Given the description of an element on the screen output the (x, y) to click on. 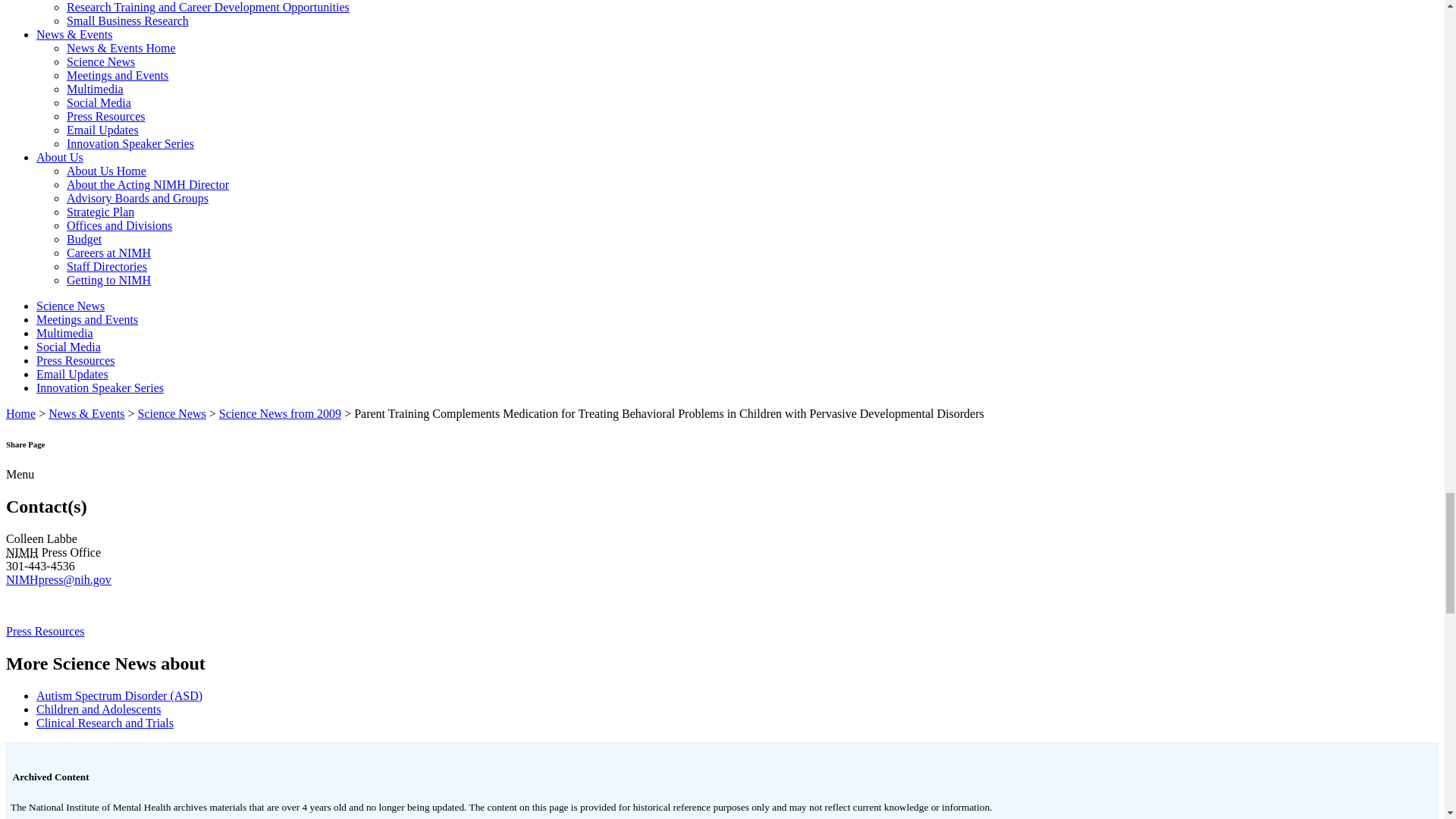
National Institute of Mental Health (22, 552)
